Given the description of an element on the screen output the (x, y) to click on. 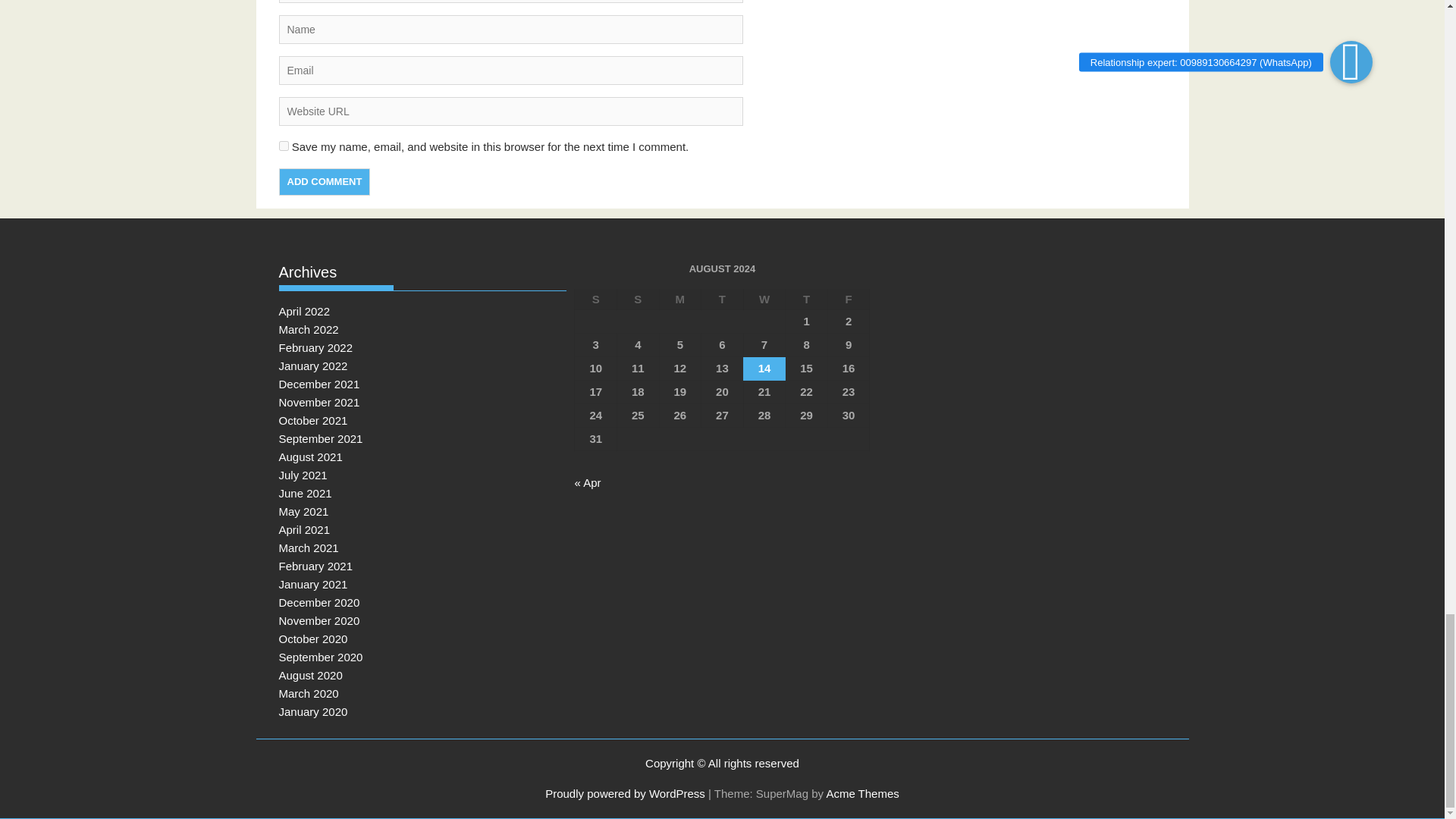
Sunday (638, 299)
yes (283, 145)
Saturday (596, 299)
Add Comment (325, 181)
